Given the description of an element on the screen output the (x, y) to click on. 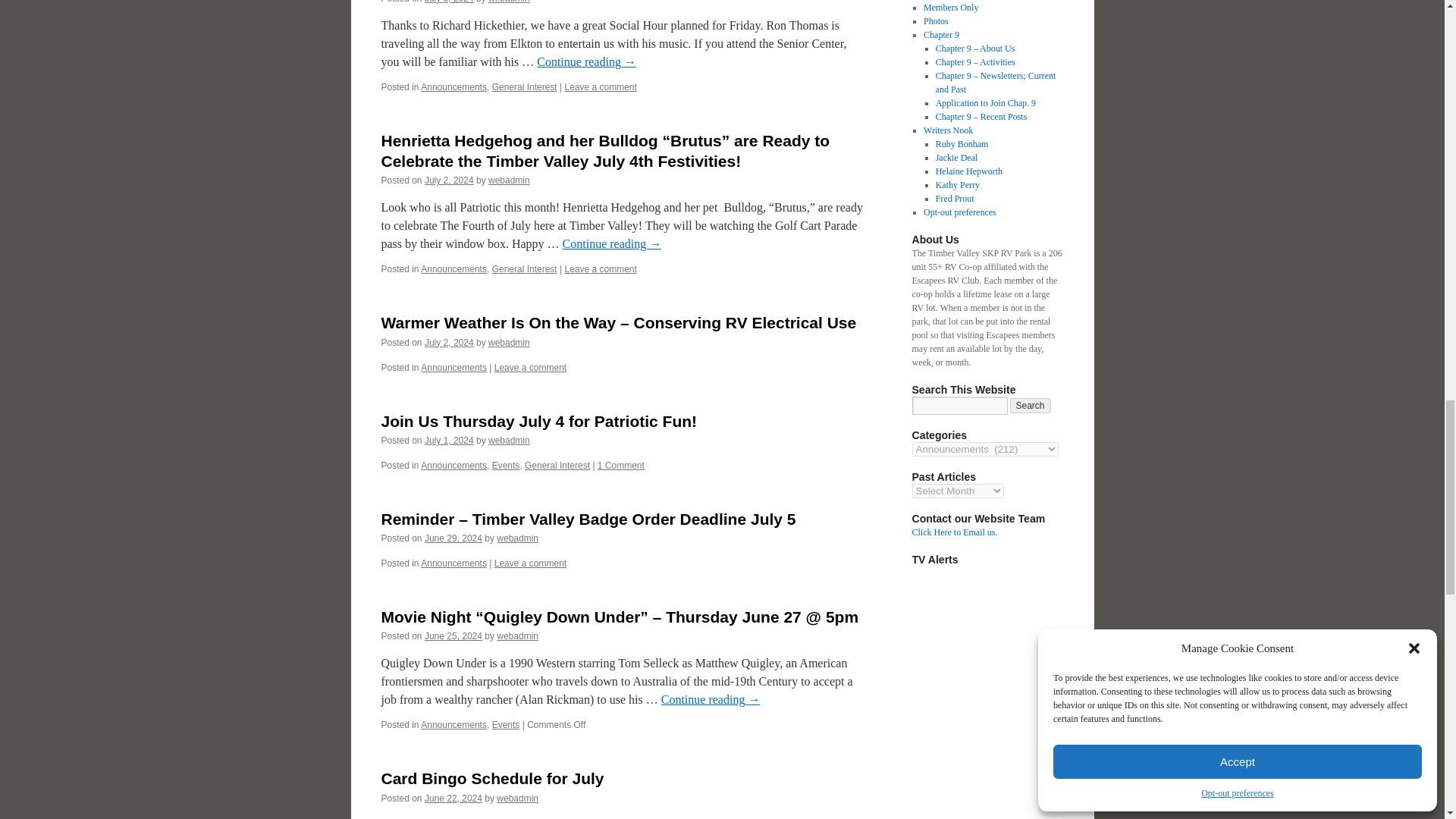
Search (1030, 405)
